Given the description of an element on the screen output the (x, y) to click on. 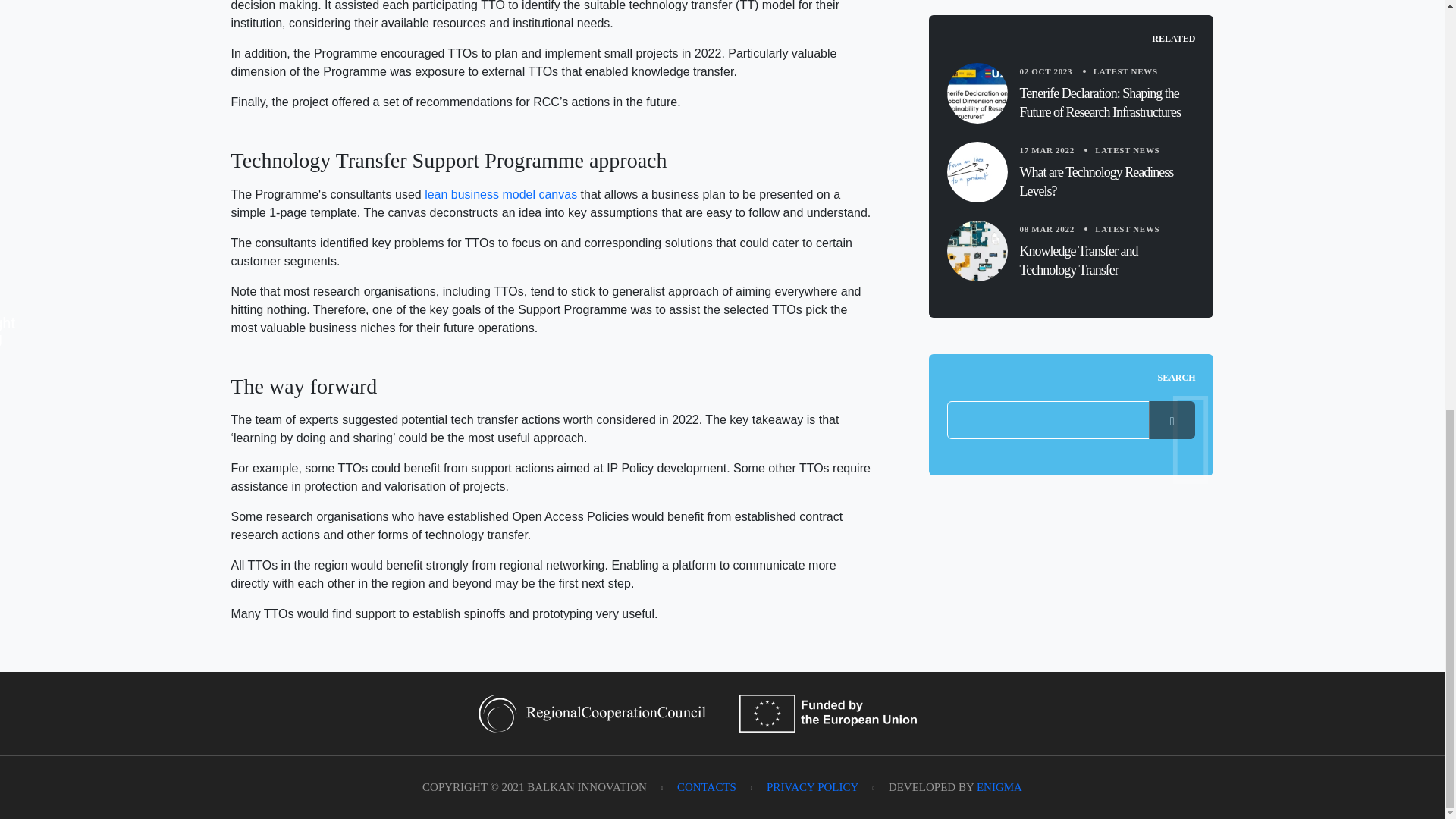
lean business model canvas (500, 194)
ENIGMA (999, 787)
PRIVACY POLICY (813, 787)
CONTACTS (706, 787)
